Given the description of an element on the screen output the (x, y) to click on. 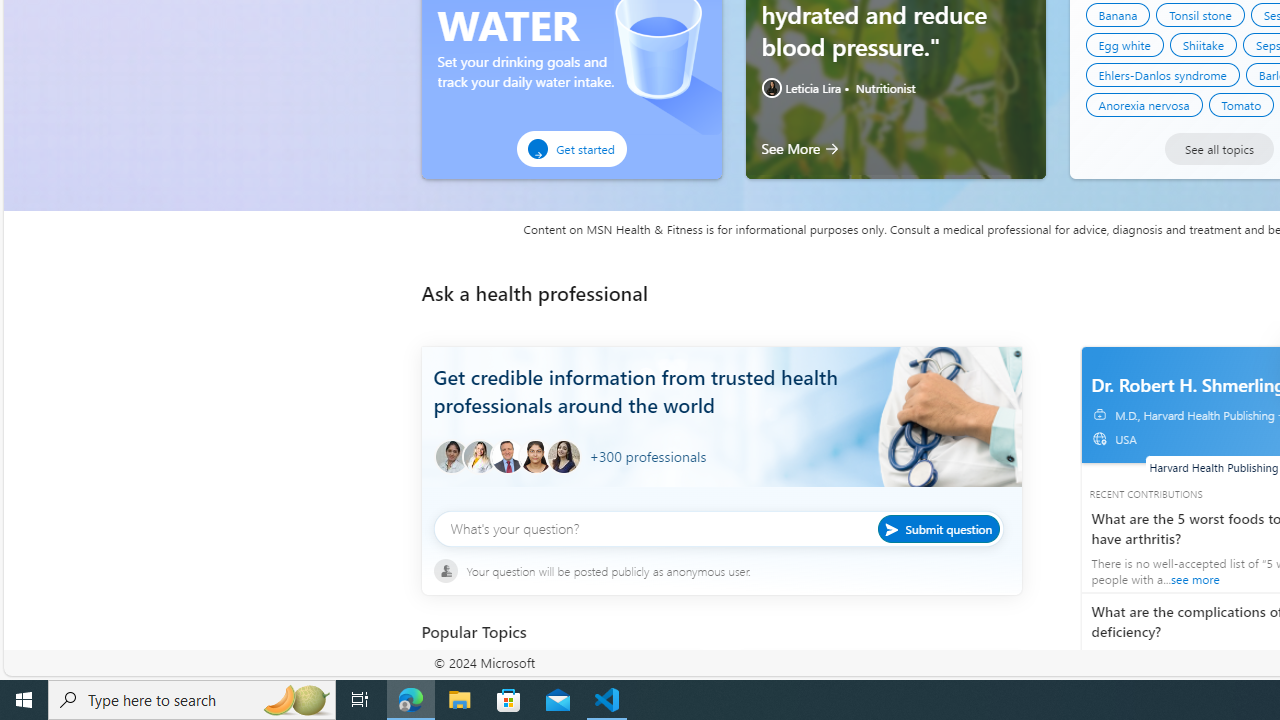
Pictorial representation of Gout (779, 682)
Health professional icon (450, 457)
Tonsil stone (1200, 14)
What's your question? (718, 528)
Background (721, 431)
Submit question (937, 528)
Get started (571, 149)
Shiitake (1202, 44)
Class: vecOut (1099, 438)
Tomato (1241, 104)
Pictorial representation of Stroke (461, 682)
See all topics (1218, 148)
